Given the description of an element on the screen output the (x, y) to click on. 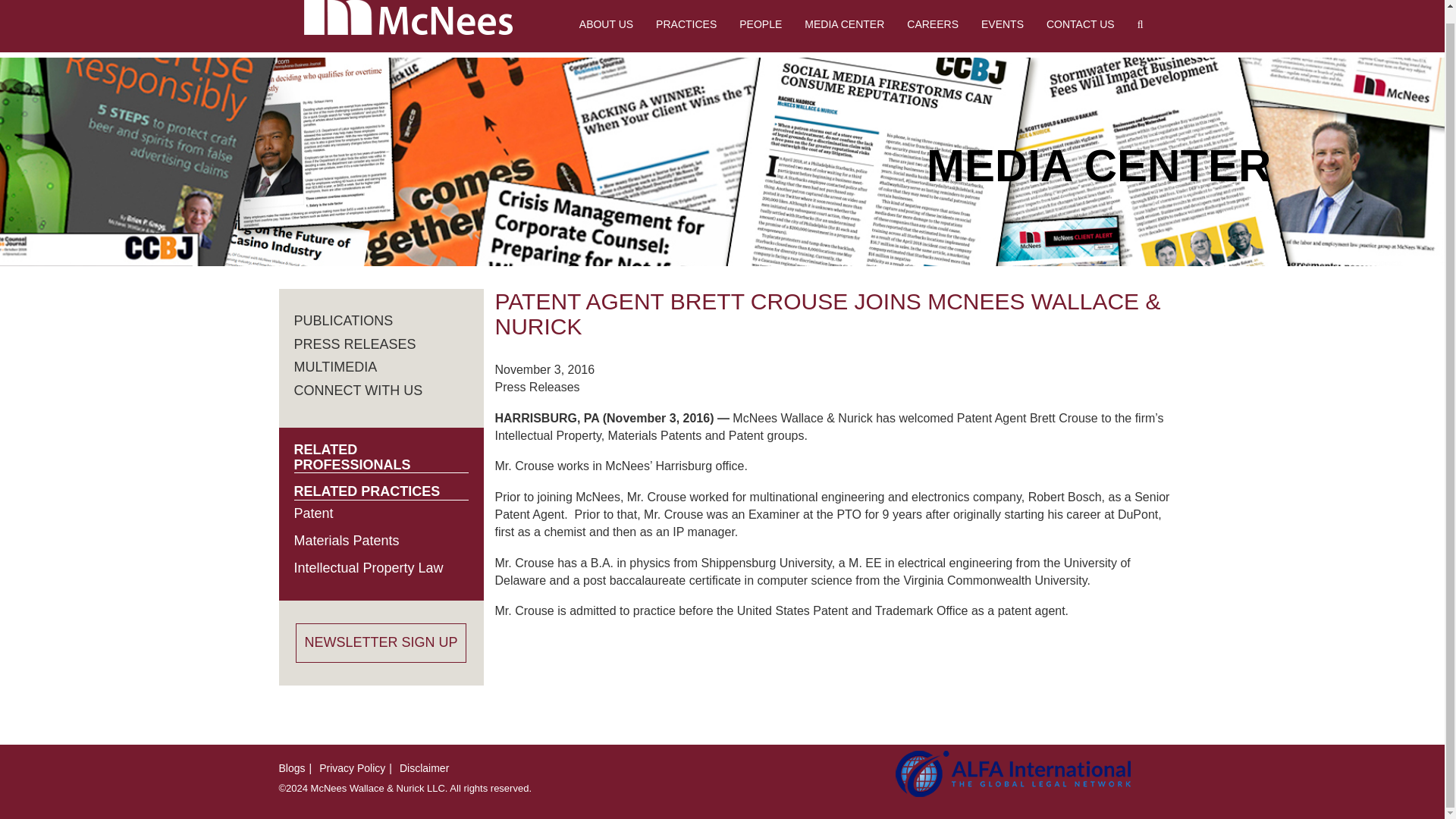
CAREERS (932, 23)
MULTIMEDIA (335, 366)
NEWSLETTER SIGN UP (380, 642)
CONTACT US (1080, 23)
Intellectual Property Law (369, 567)
PRESS RELEASES (355, 344)
PUBLICATIONS (343, 320)
Patent (313, 513)
PRACTICES (686, 23)
Disclaimer (423, 767)
PEOPLE (760, 23)
EVENTS (1002, 23)
Materials Patents (346, 540)
Blogs (292, 767)
CONNECT WITH US (358, 390)
